Given the description of an element on the screen output the (x, y) to click on. 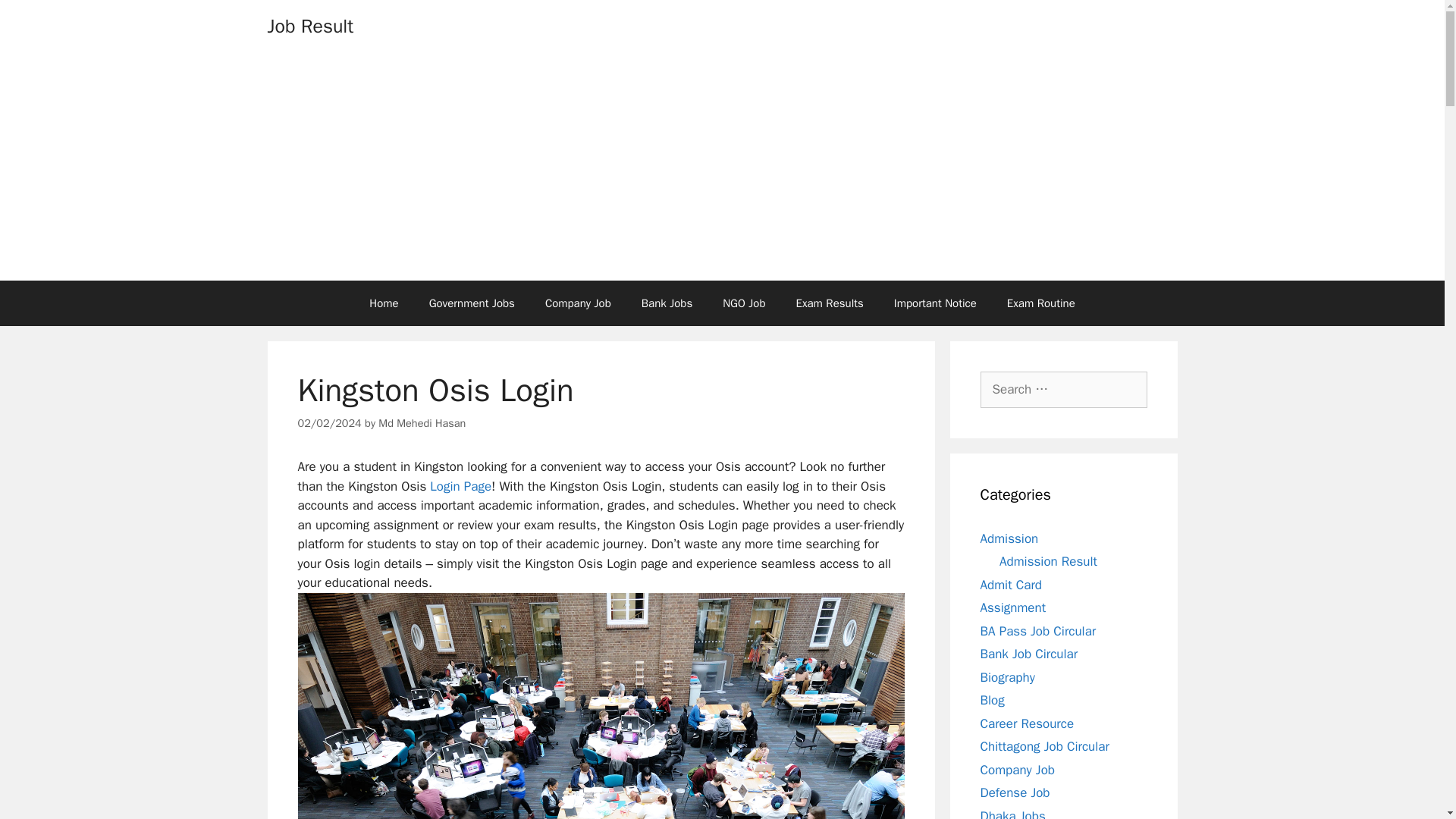
Company Job (577, 302)
Government Jobs (471, 302)
Md Mehedi Hasan (421, 422)
Job Result (309, 25)
Login Page (460, 486)
Home (383, 302)
View all posts by Md Mehedi Hasan (421, 422)
NGO Job (743, 302)
Exam Results (829, 302)
